Given the description of an element on the screen output the (x, y) to click on. 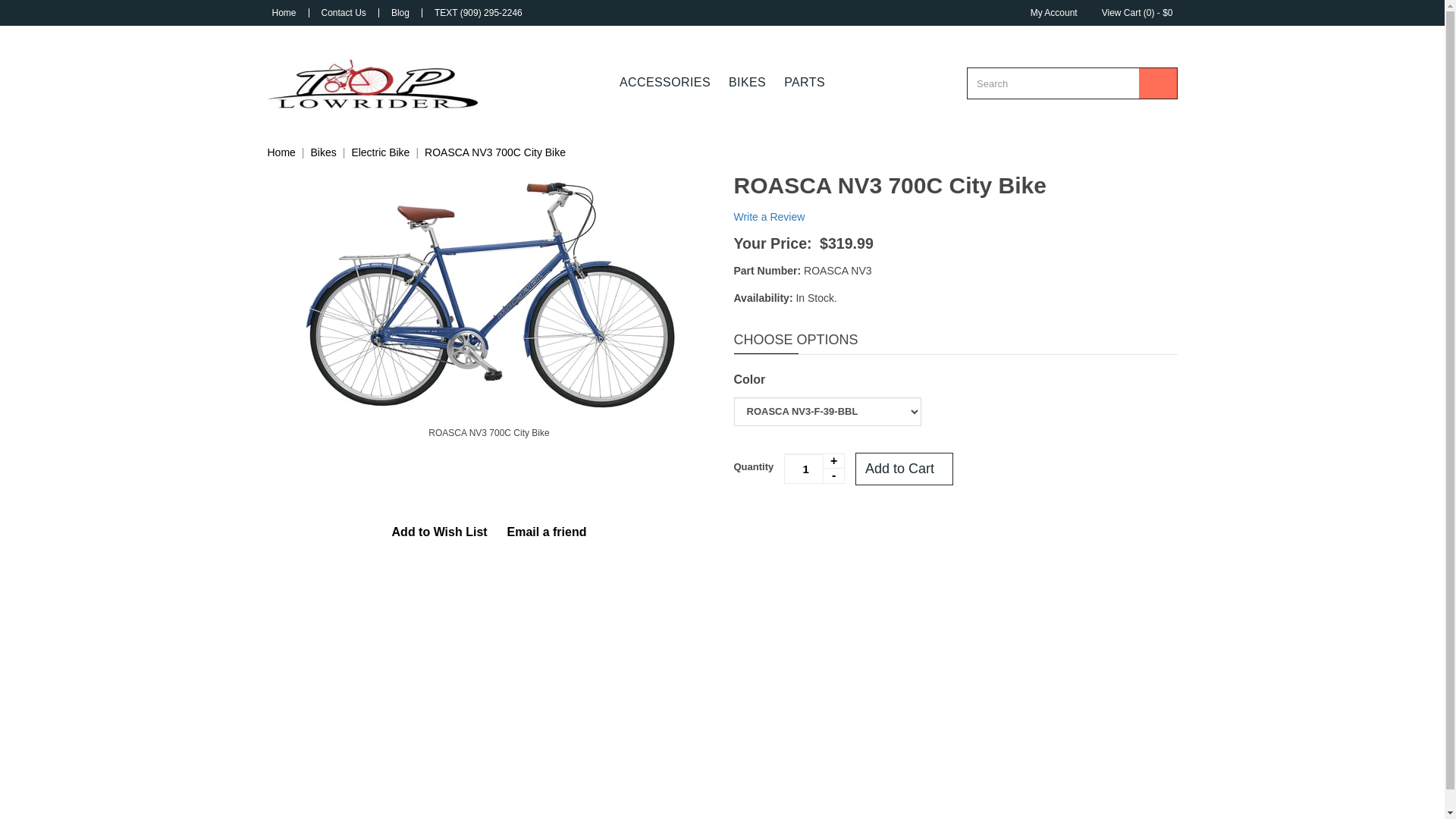
Blog (400, 12)
ROASCA NV3 700C City Bike  (488, 291)
ACCESSORIES (664, 82)
My Account (1053, 12)
Add to Wish List (439, 532)
Email a friend (547, 532)
BIKES (746, 82)
Contact Us (344, 12)
Home (282, 12)
Home (280, 152)
